Given the description of an element on the screen output the (x, y) to click on. 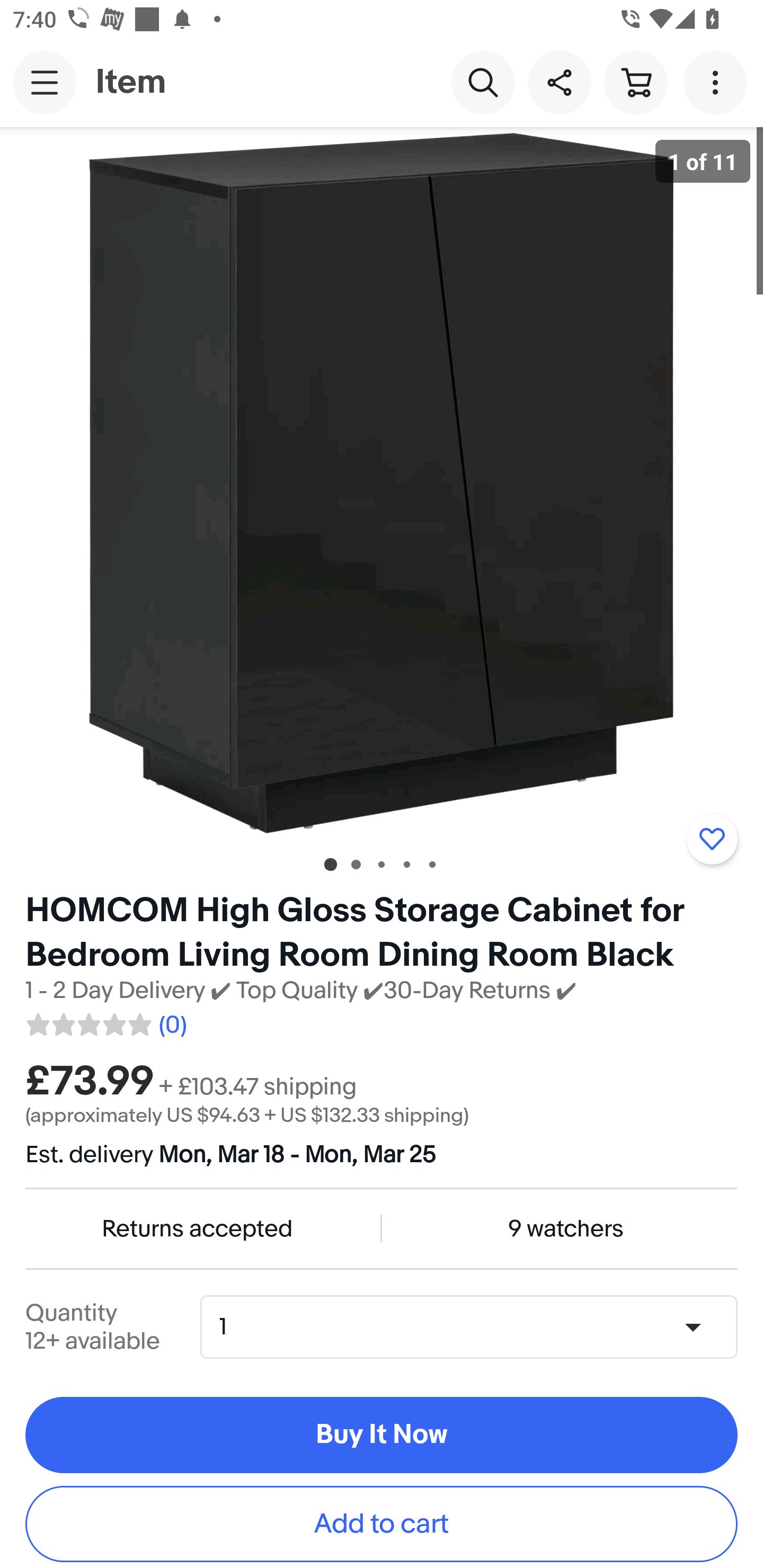
Main navigation, open (44, 82)
Search (482, 81)
Share this item (559, 81)
Cart button shopping cart (635, 81)
More options (718, 81)
Item image 1 of 11 (381, 482)
Add to watchlist (711, 838)
1 - 2 Day Delivery ✔ Top Quality ✔30-Day Returns ✔ (300, 990)
0 reviews. Average rating 0.0 out of five 0.0 (0) (105, 1021)
Quantity,1,12+ available 1 (474, 1326)
Buy It Now (381, 1435)
Add to cart (381, 1523)
